Given the description of an element on the screen output the (x, y) to click on. 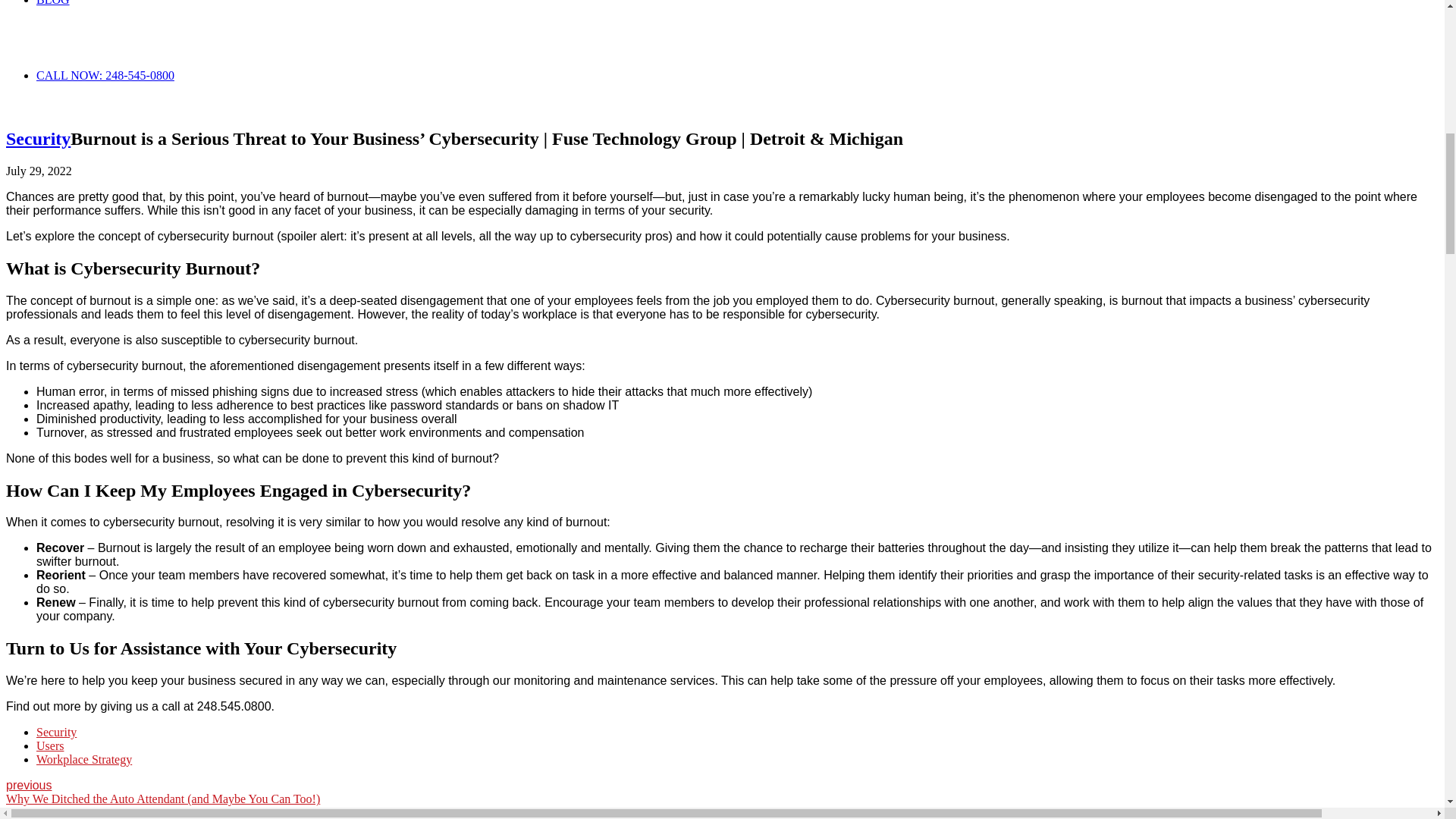
Security (56, 731)
Workplace Strategy (84, 758)
Security (37, 138)
Users (50, 745)
CALL NOW: 248-545-0800 (105, 74)
BLOG (52, 2)
